Given the description of an element on the screen output the (x, y) to click on. 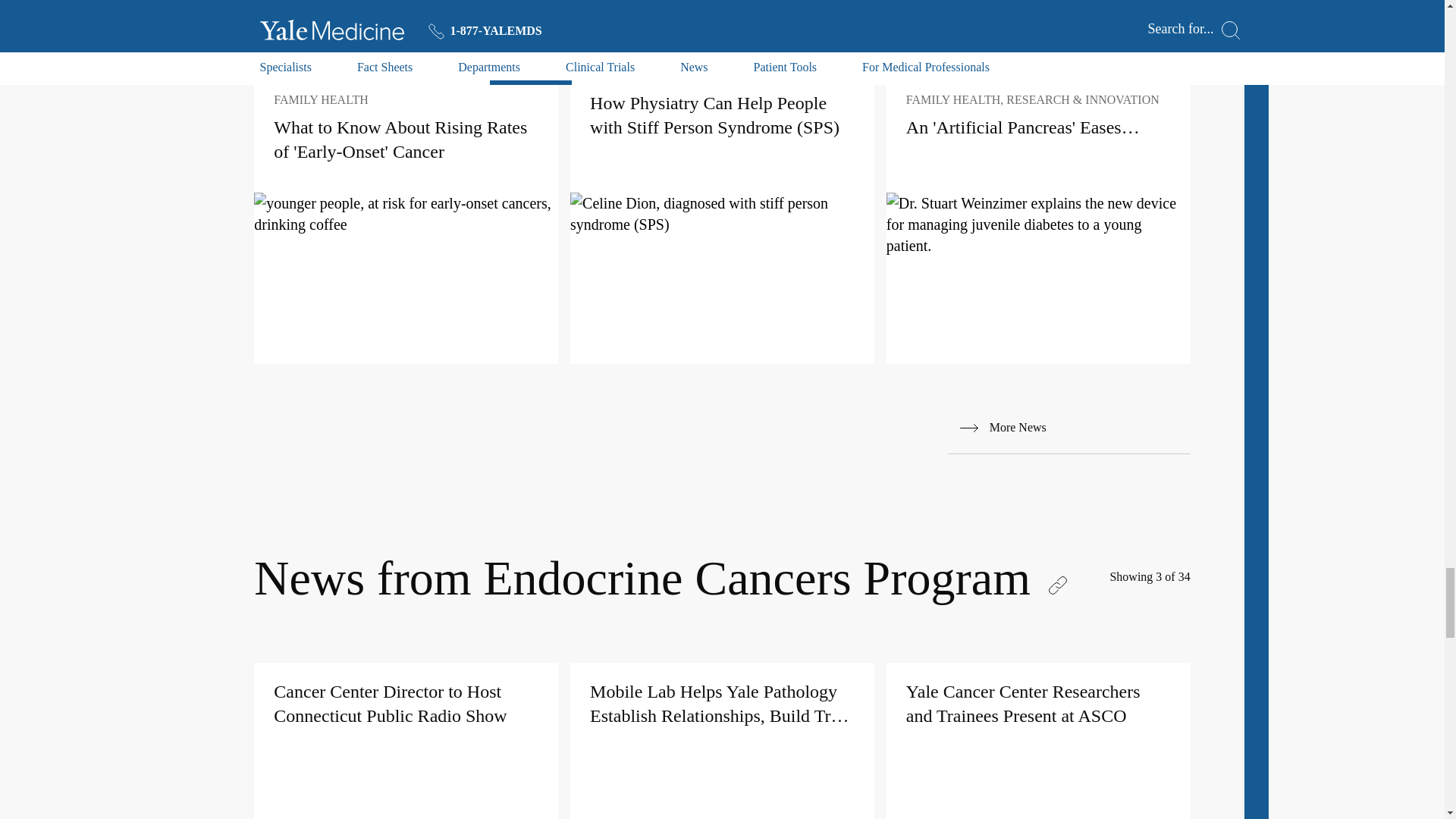
younger people drinking coffee (405, 213)
Celine Dion (722, 213)
